Given the description of an element on the screen output the (x, y) to click on. 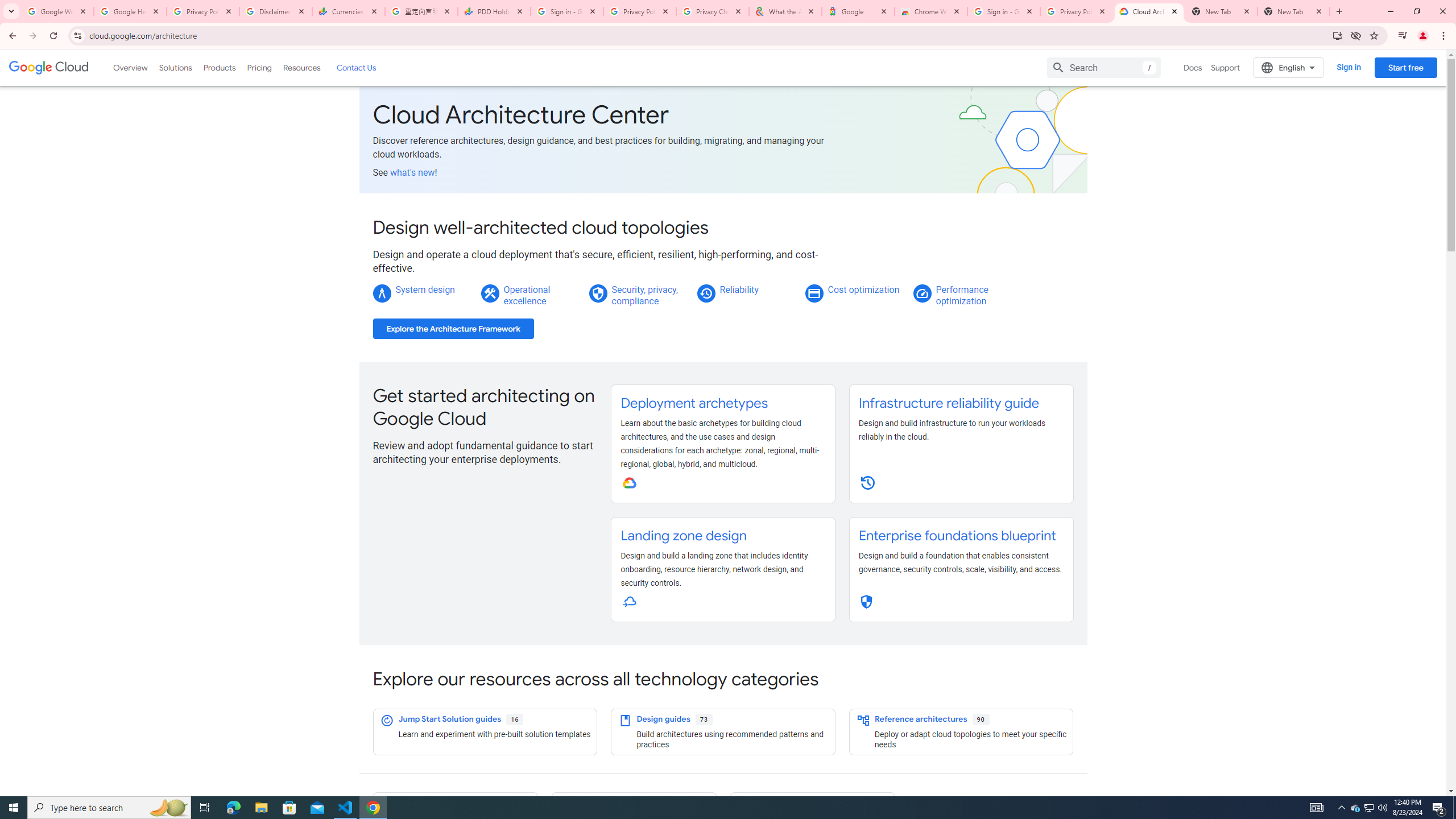
Google Workspace Admin Community (57, 11)
Cost optimization (863, 289)
Operational excellence (526, 295)
Start free (1405, 67)
Resources (301, 67)
Sign in - Google Accounts (1003, 11)
System design (424, 289)
